Given the description of an element on the screen output the (x, y) to click on. 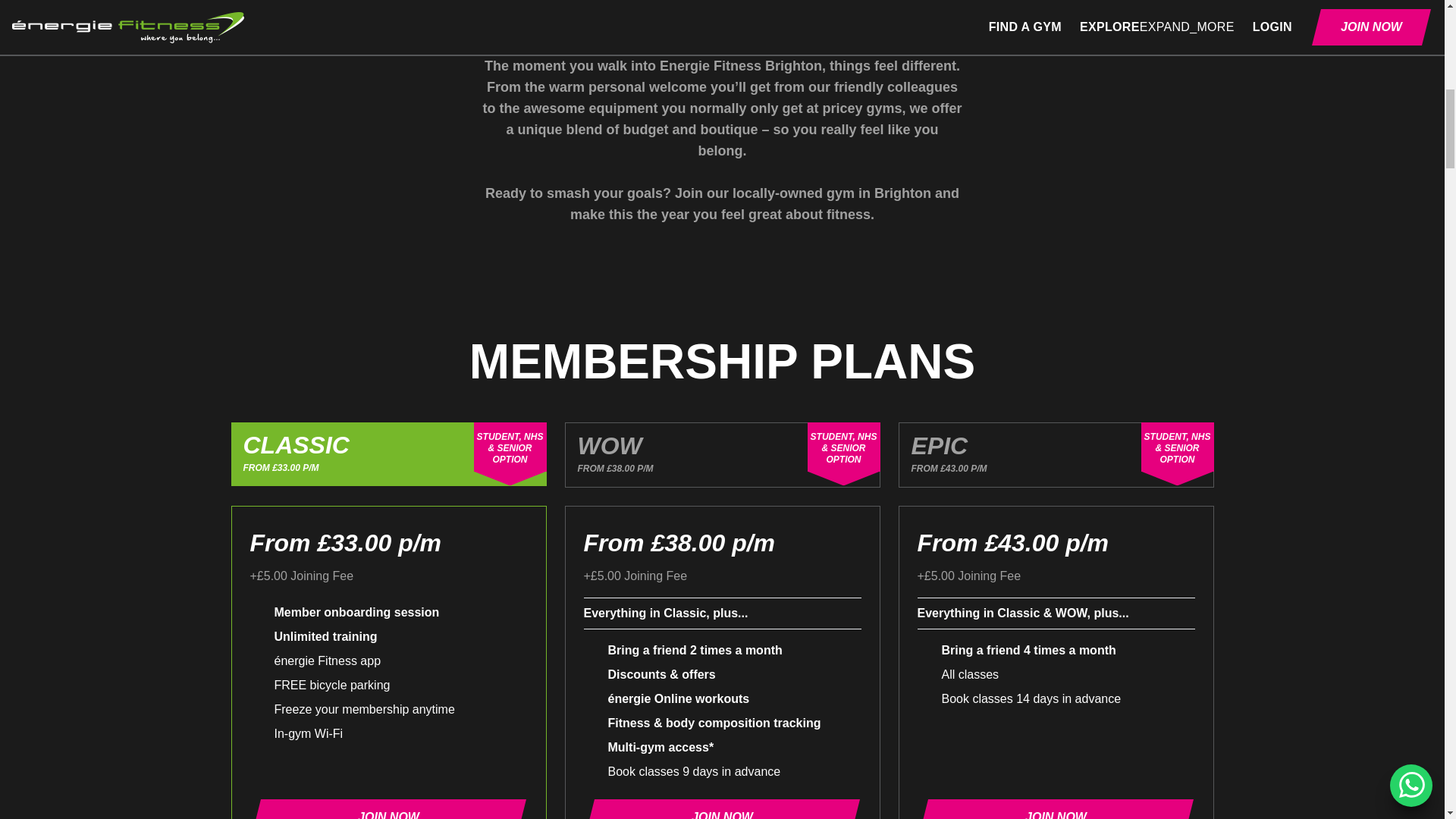
JOIN NOW (722, 809)
JOIN NOW (388, 809)
JOIN NOW (1056, 809)
